Given the description of an element on the screen output the (x, y) to click on. 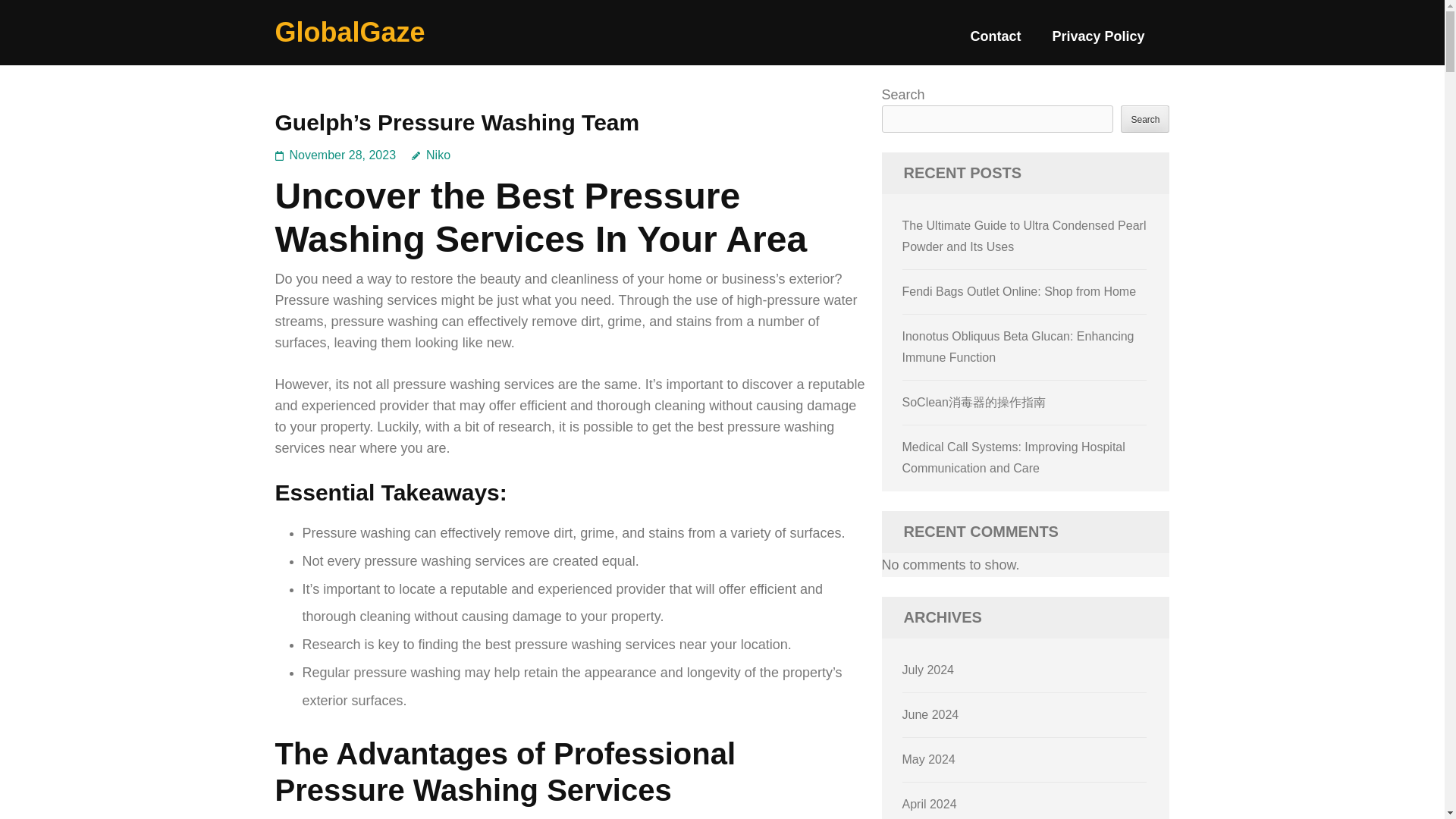
June 2024 (930, 714)
GlobalGaze (350, 31)
Search (1145, 118)
Niko (430, 154)
Contact (994, 42)
Inonotus Obliquus Beta Glucan: Enhancing Immune Function (1018, 346)
November 28, 2023 (342, 154)
Privacy Policy (1097, 42)
July 2024 (928, 669)
Fendi Bags Outlet Online: Shop from Home (1019, 291)
April 2024 (929, 803)
May 2024 (928, 758)
